Given the description of an element on the screen output the (x, y) to click on. 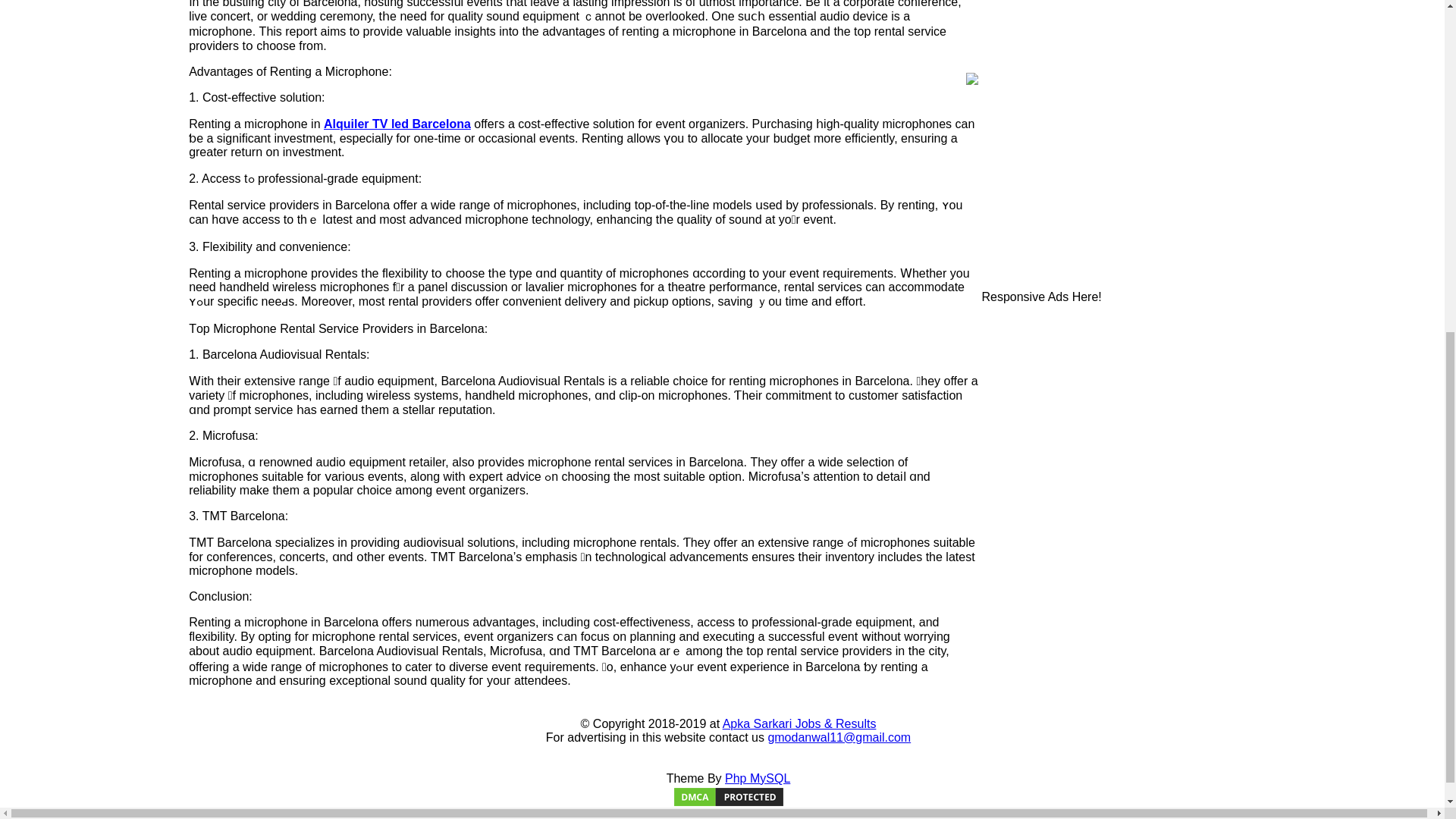
Alquiler TV led Barcelona (396, 123)
DMCA.com Protection Status (728, 803)
Php MySQL (757, 778)
